Given the description of an element on the screen output the (x, y) to click on. 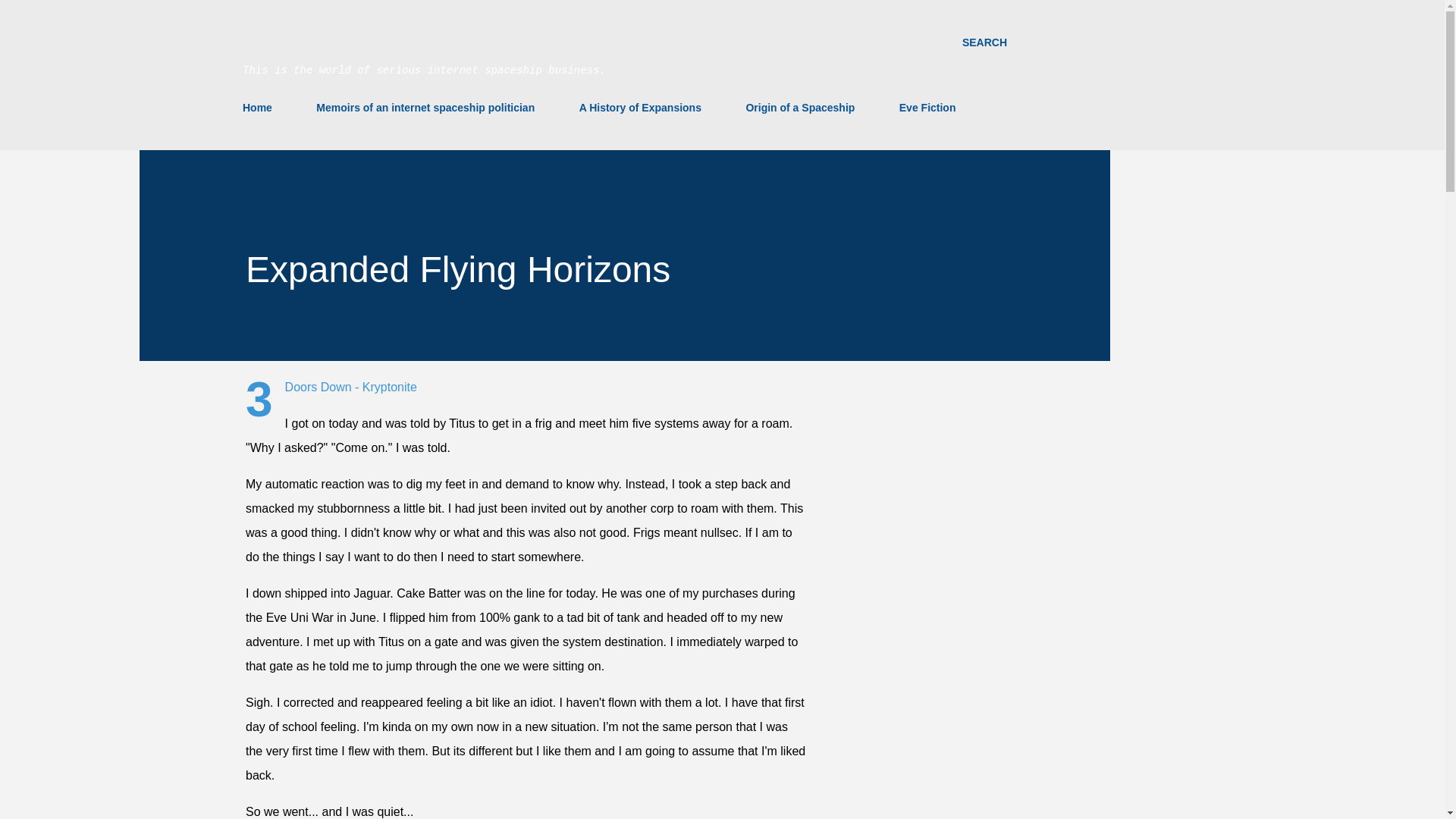
Origin of a Spaceship (799, 107)
A History of Expansions (640, 107)
Eve Fiction (927, 107)
3 Doors Down - Kryptonite (350, 386)
Home (262, 107)
SEARCH (984, 42)
Memoirs of an internet spaceship politician (425, 107)
LOW SEC LIFESTYLE (332, 42)
